Given the description of an element on the screen output the (x, y) to click on. 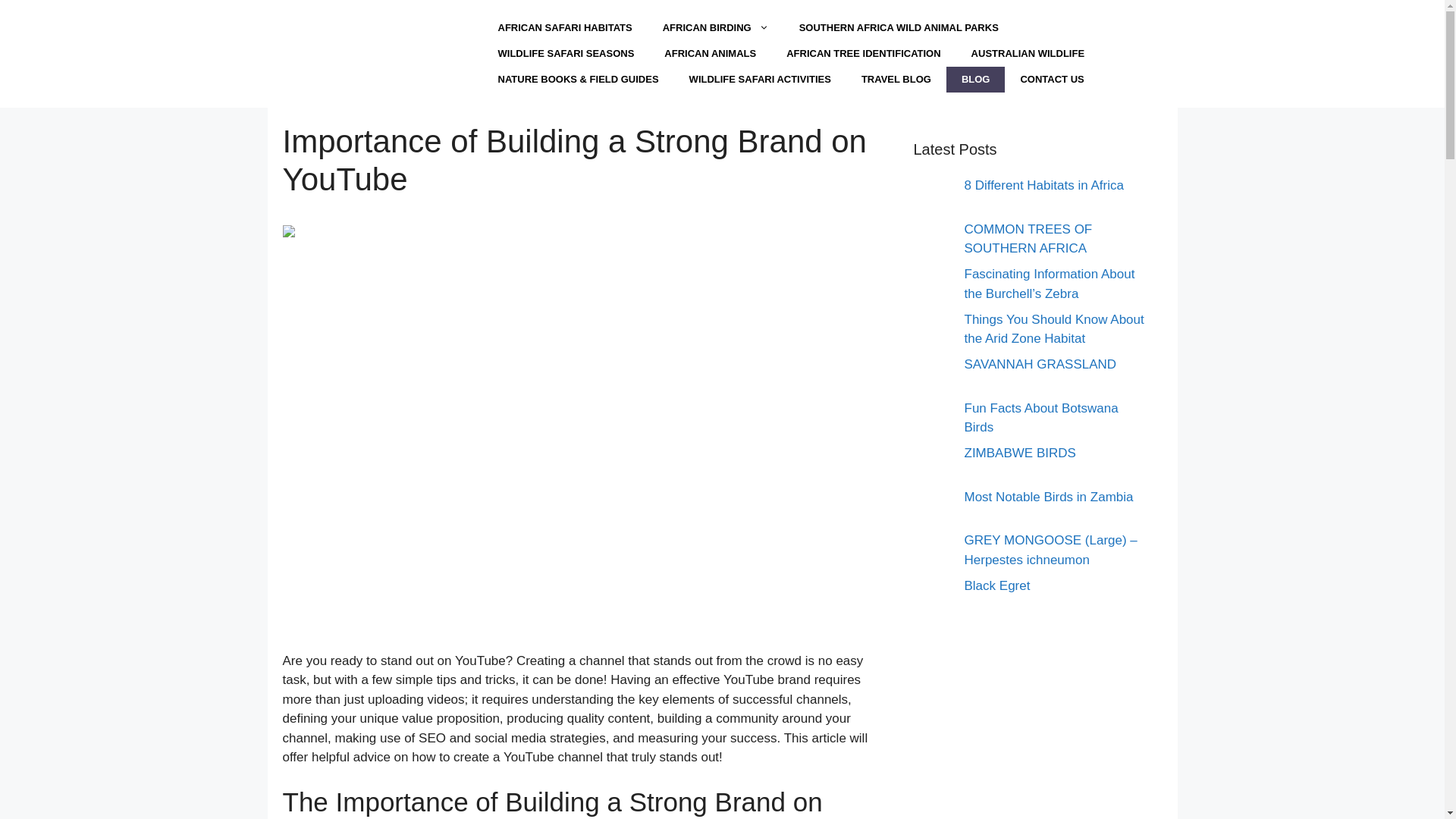
TRAVEL BLOG (895, 79)
8 Different Habitats in Africa (1043, 185)
AFRICAN TREE IDENTIFICATION (863, 53)
WILDLIFE SAFARI ACTIVITIES (759, 79)
WILDLIFE SAFARI SEASONS (565, 53)
AFRICAN BIRDING (715, 27)
AFRICAN SAFARI HABITATS (563, 27)
COMMON TREES OF SOUTHERN AFRICA (1028, 238)
SAVANNAH GRASSLAND (1039, 364)
BLOG (976, 79)
Things You Should Know About the Arid Zone Habitat (1053, 329)
AFRICAN ANIMALS (710, 53)
SOUTHERN AFRICA WILD ANIMAL PARKS (898, 27)
AUSTRALIAN WILDLIFE (1027, 53)
CONTACT US (1051, 79)
